Given the description of an element on the screen output the (x, y) to click on. 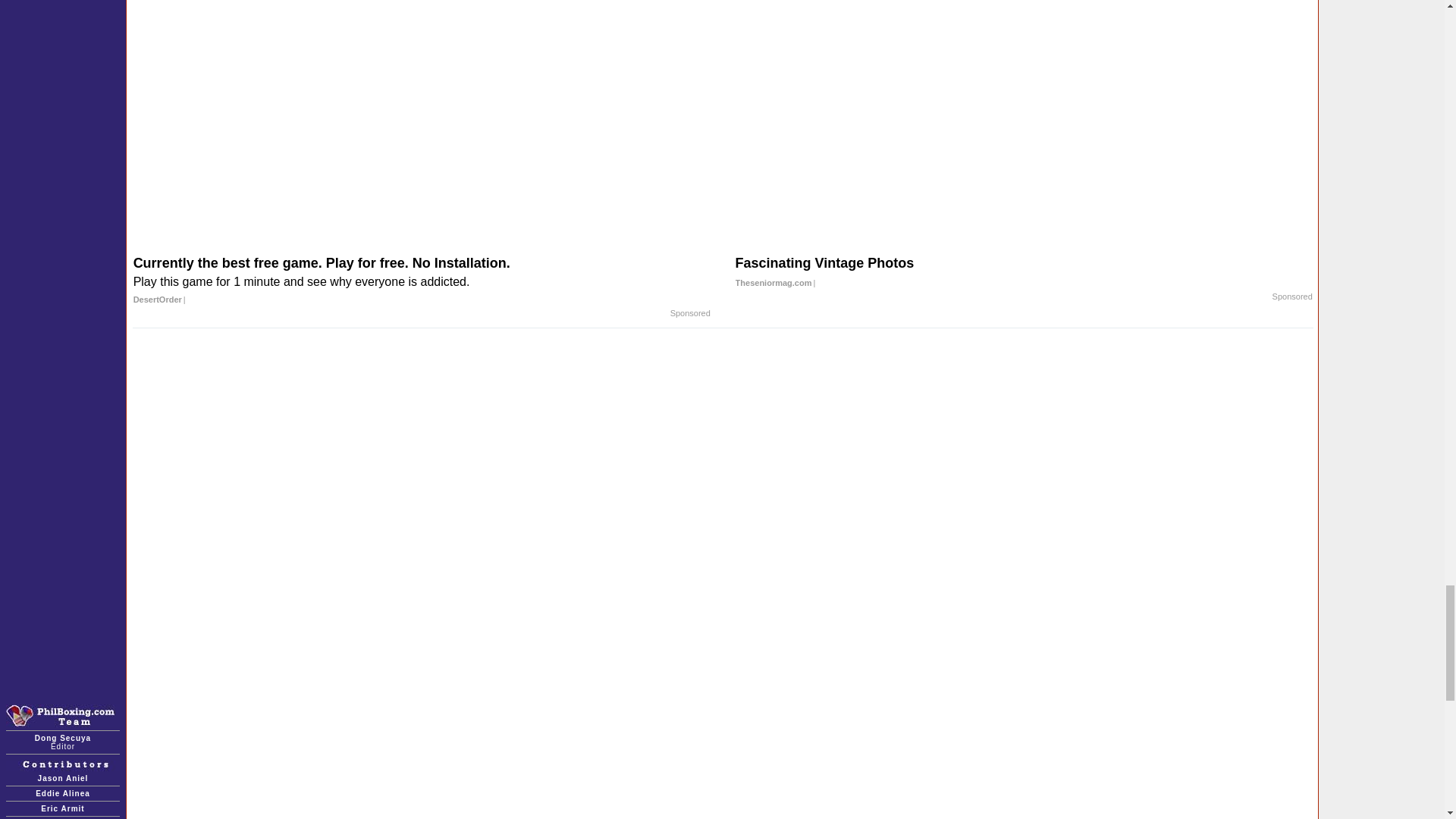
Jason Aniel (62, 777)
Eric Armit (62, 808)
Dong Secuya (62, 737)
Eddie Alinea (62, 793)
